Given the description of an element on the screen output the (x, y) to click on. 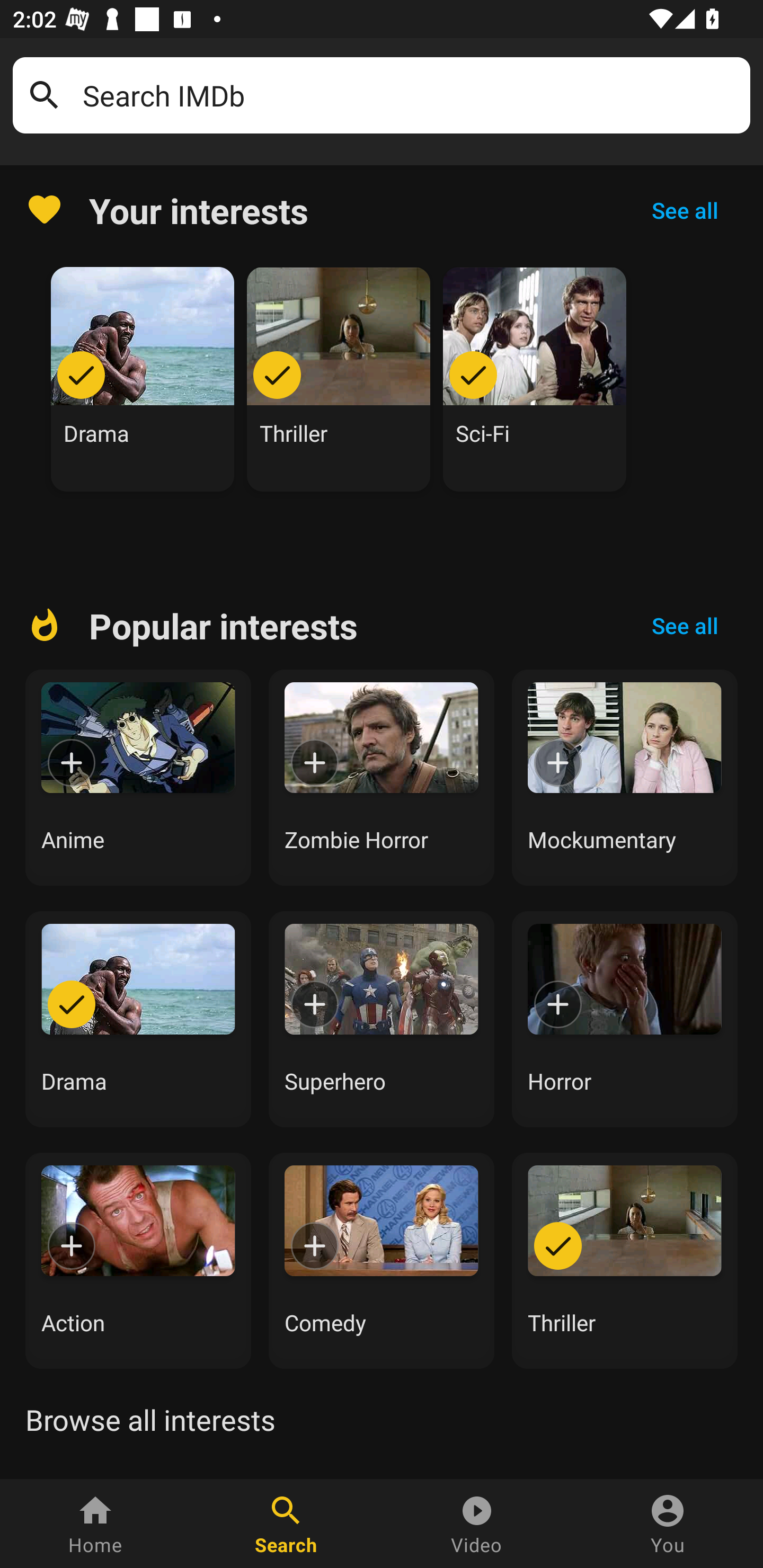
Search IMDb (410, 95)
See all (684, 209)
Drama (142, 379)
Thriller (338, 379)
Sci-Fi (534, 379)
See all (684, 625)
Anime (138, 777)
Zombie Horror (381, 777)
Mockumentary (624, 777)
Drama (138, 1018)
Superhero (381, 1018)
Horror (624, 1018)
Action (138, 1260)
Comedy (381, 1260)
Thriller (624, 1260)
Browse all interests (150, 1419)
Home (95, 1523)
Video (476, 1523)
You (667, 1523)
